Given the description of an element on the screen output the (x, y) to click on. 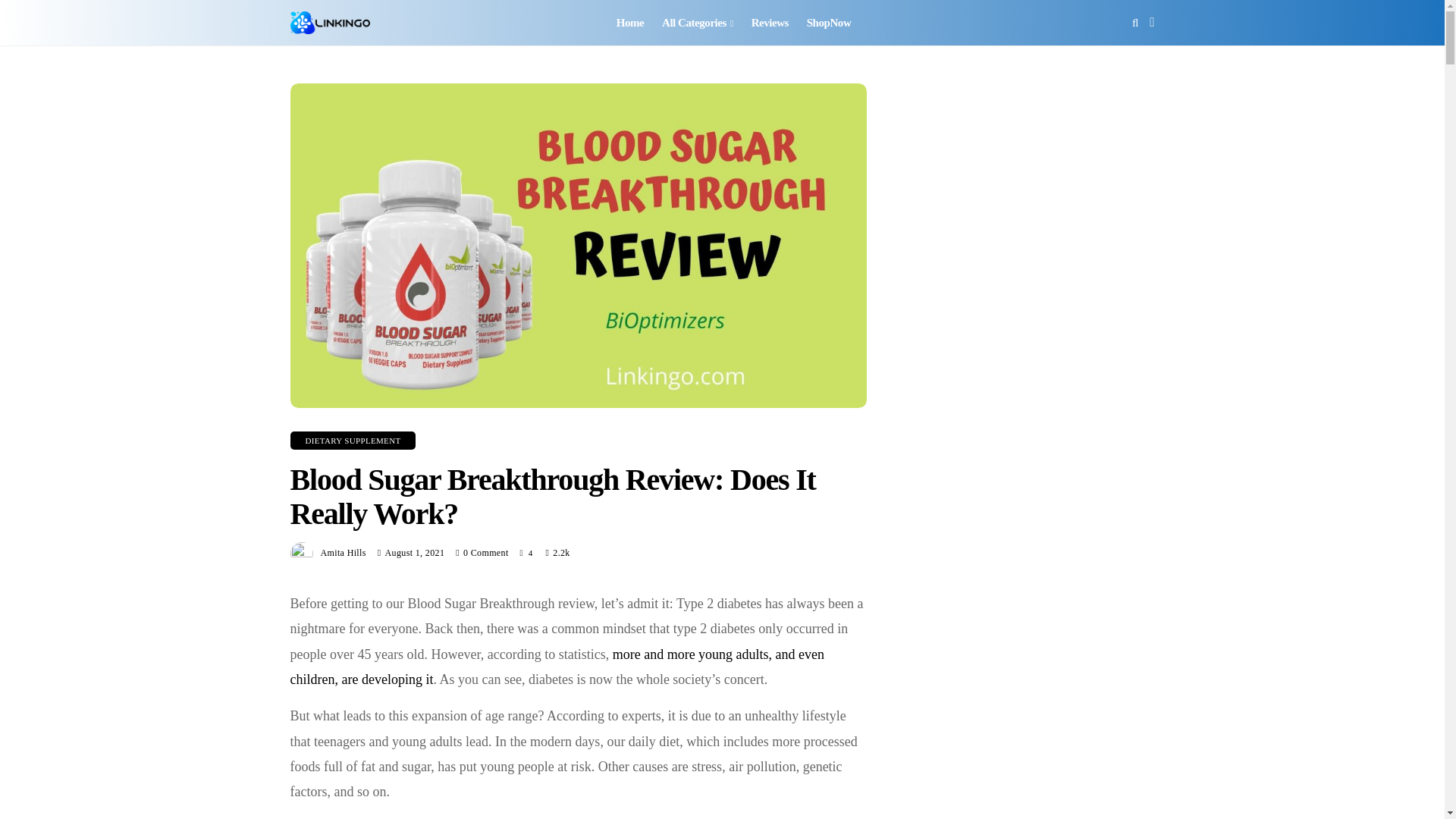
shopnow (828, 22)
Like (526, 552)
Posts by Amita Hills (342, 552)
All Categories (697, 22)
